Given the description of an element on the screen output the (x, y) to click on. 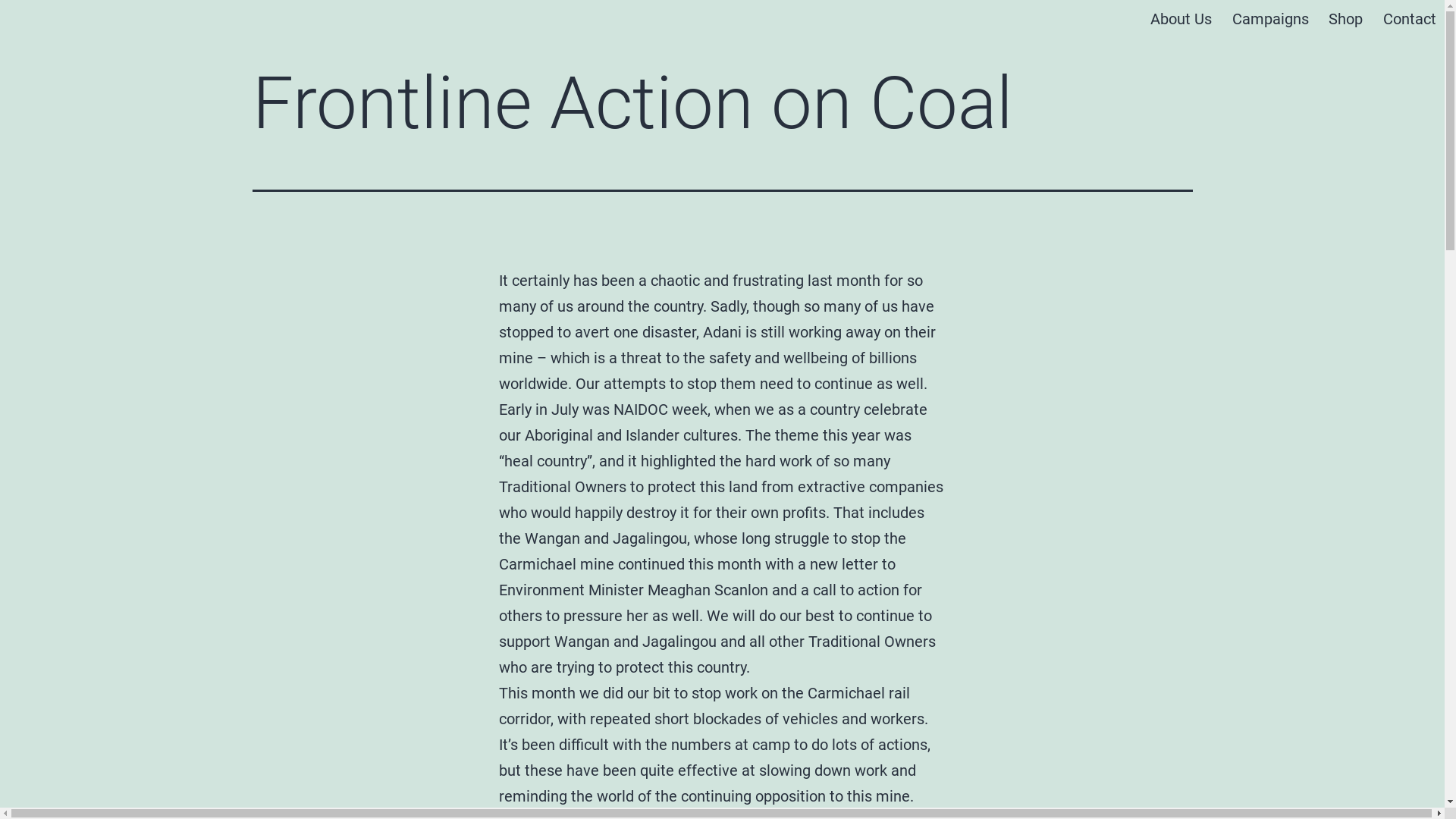
About Us Element type: text (1180, 18)
Contact Element type: text (1408, 18)
Campaigns Element type: text (1270, 18)
a call to action for others to pressure her as well Element type: text (710, 602)
Shop Element type: text (1345, 18)
